Given the description of an element on the screen output the (x, y) to click on. 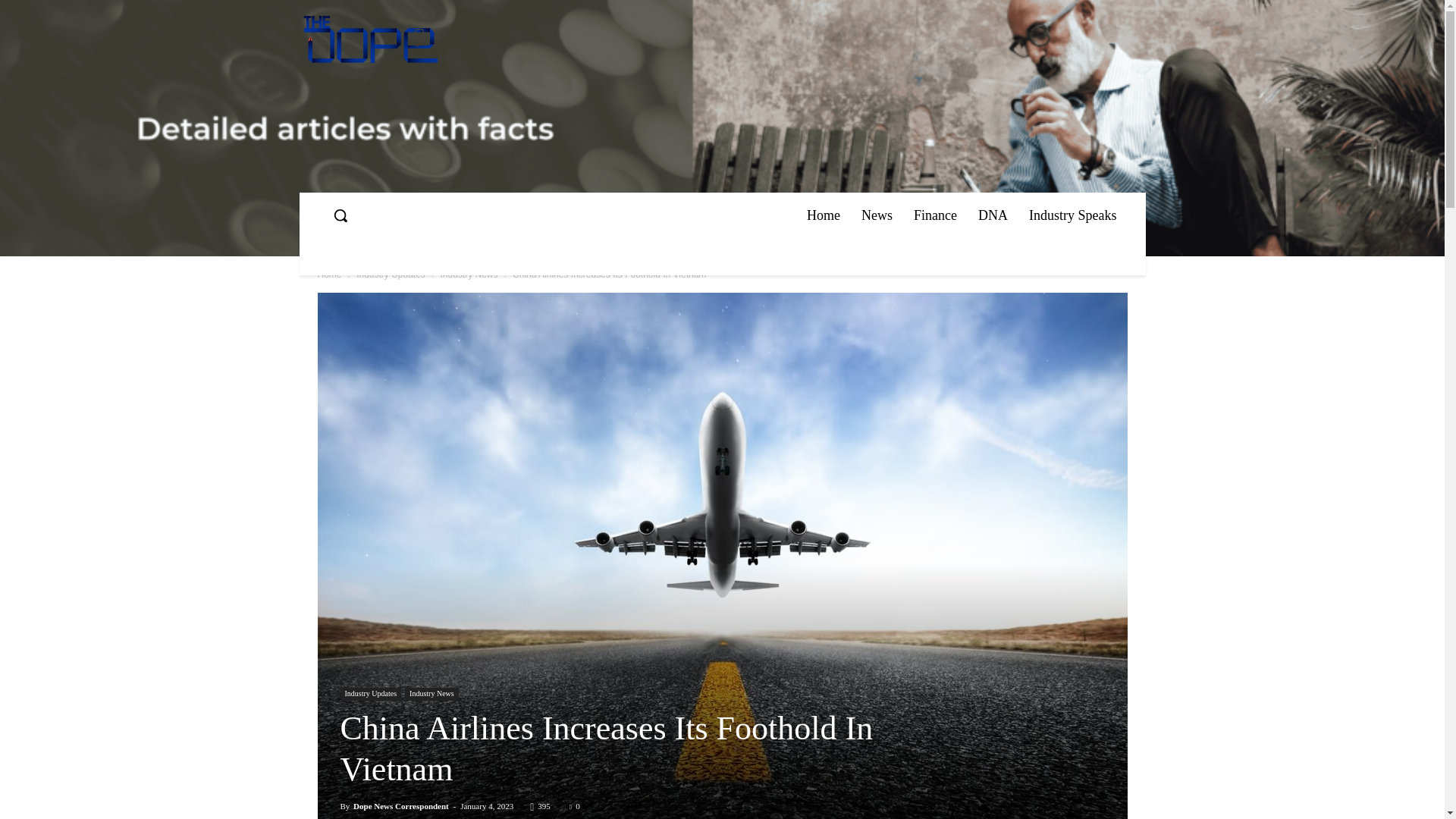
View all posts in Industry News (468, 274)
Finance (935, 215)
News (876, 215)
Industry News (468, 274)
Industry Updates (370, 694)
Dope News Correspondent (400, 805)
Industry Updates (390, 274)
0 (574, 805)
View all posts in Industry Updates (390, 274)
Industry Speaks (1071, 215)
